Given the description of an element on the screen output the (x, y) to click on. 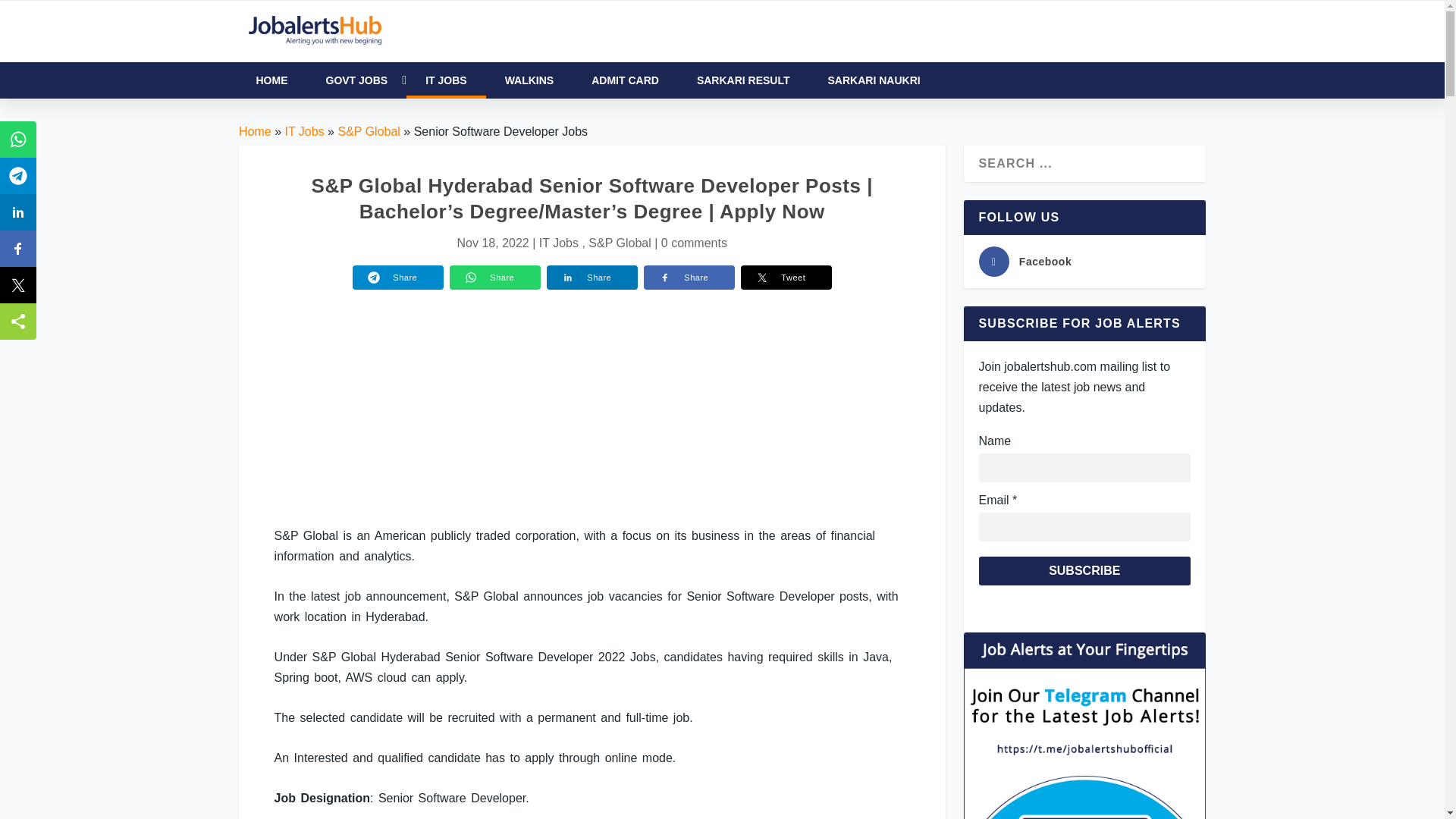
Subscribe (1084, 570)
GOVT JOBS (355, 80)
HOME (270, 80)
